Given the description of an element on the screen output the (x, y) to click on. 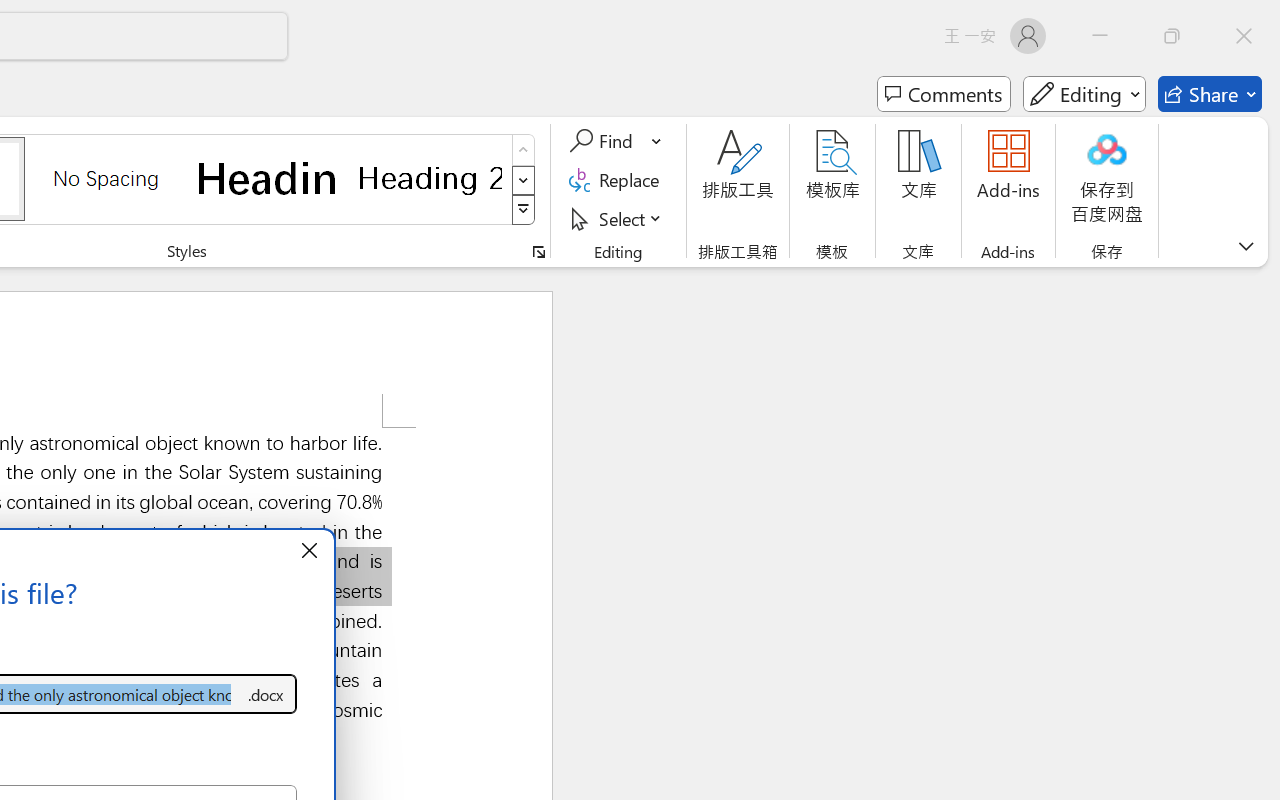
Heading 1 (267, 178)
Row up (523, 150)
Heading 2 (429, 178)
